Given the description of an element on the screen output the (x, y) to click on. 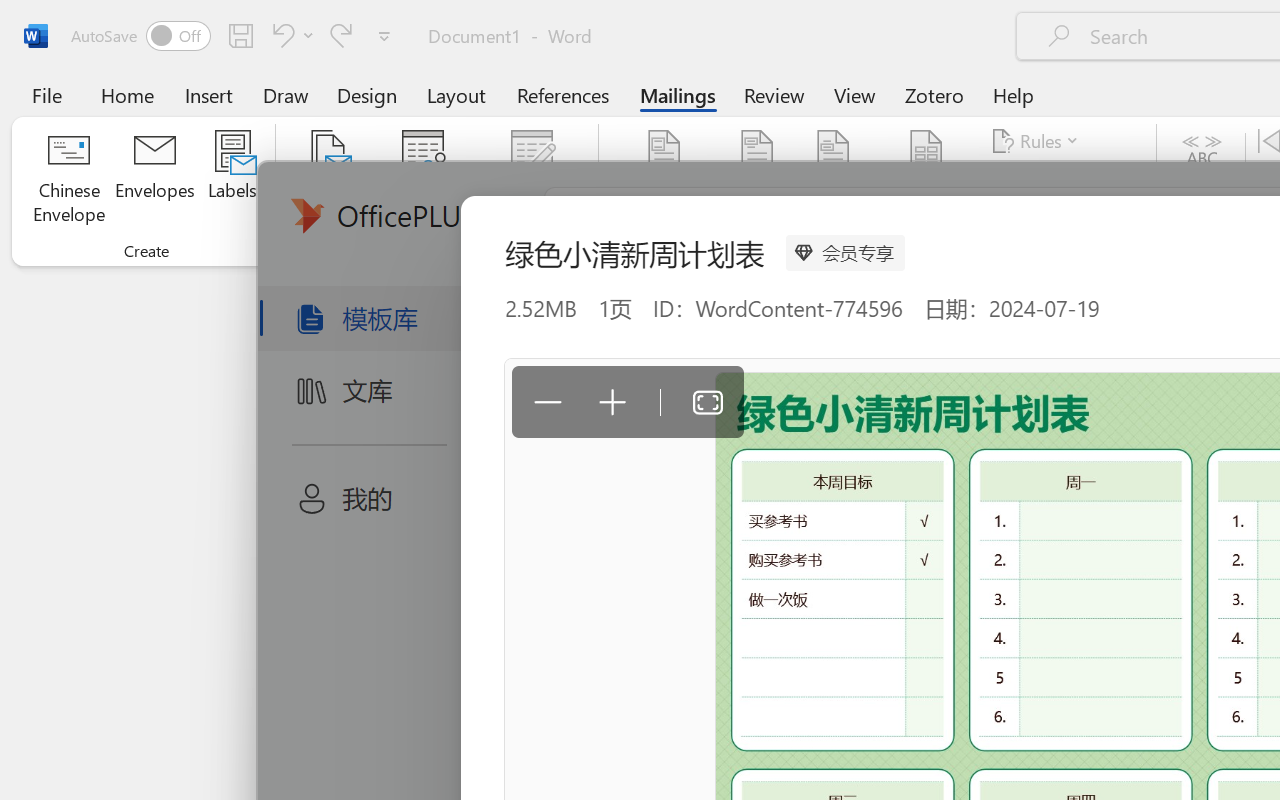
Chinese Envelope... (68, 179)
Redo Apply Quick Style (341, 35)
Undo Apply Quick Style Set (290, 35)
